Given the description of an element on the screen output the (x, y) to click on. 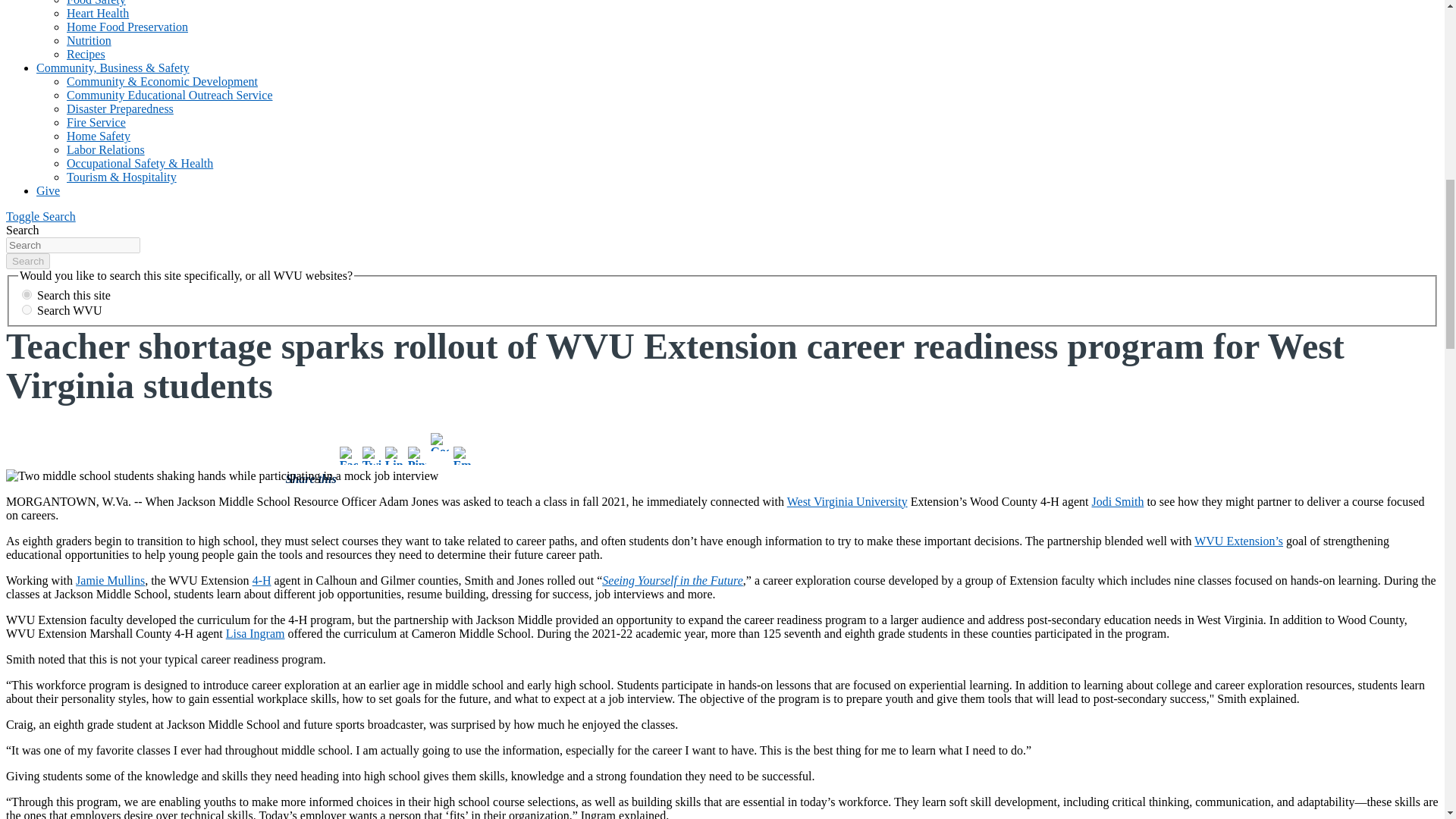
wvu.edu (26, 309)
Share This (439, 442)
Pin This (416, 455)
Share This (348, 455)
Email This (461, 455)
Link This (394, 455)
extension.wvu.edu (26, 294)
Tweet This (371, 455)
